Given the description of an element on the screen output the (x, y) to click on. 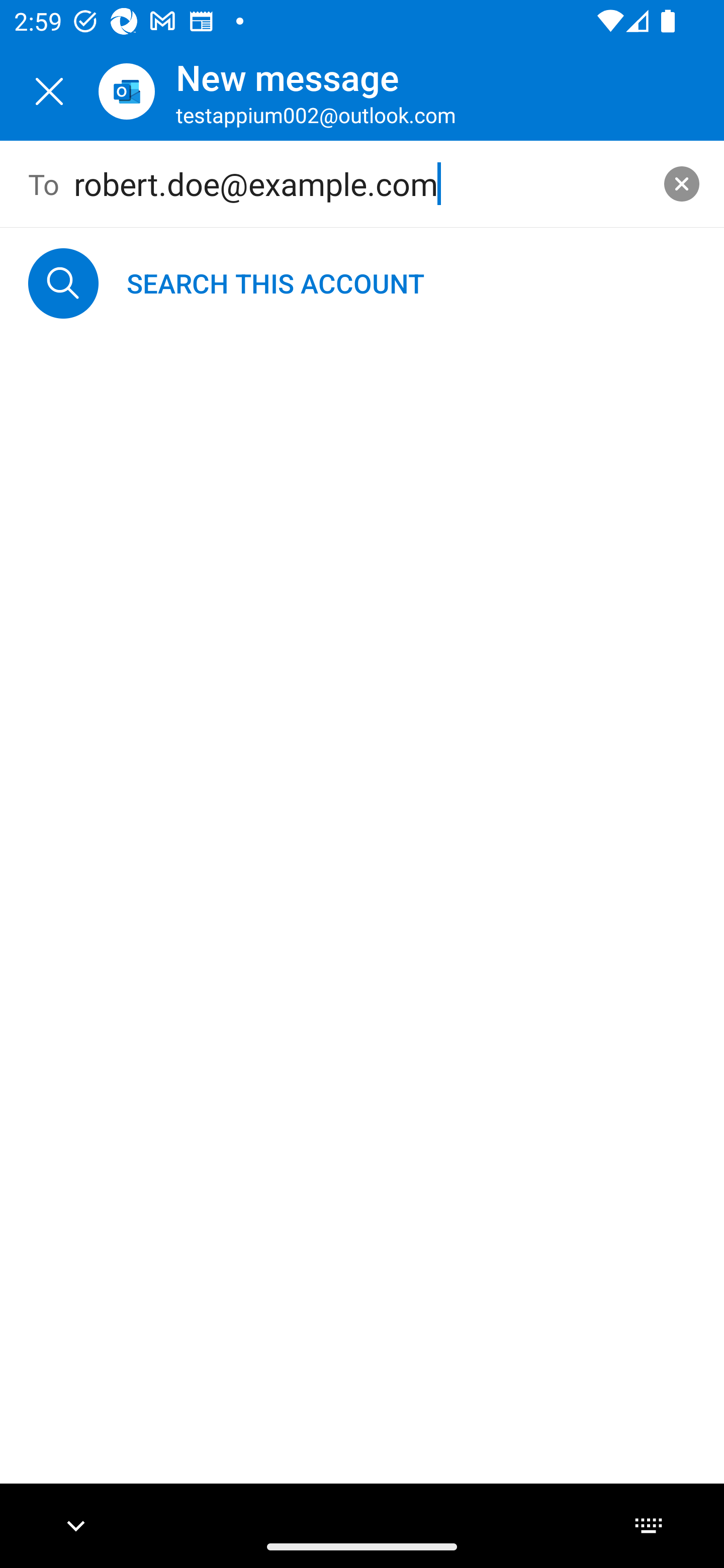
Close (49, 91)
robert.doe@example.com (362, 184)
clear search (681, 183)
